Given the description of an element on the screen output the (x, y) to click on. 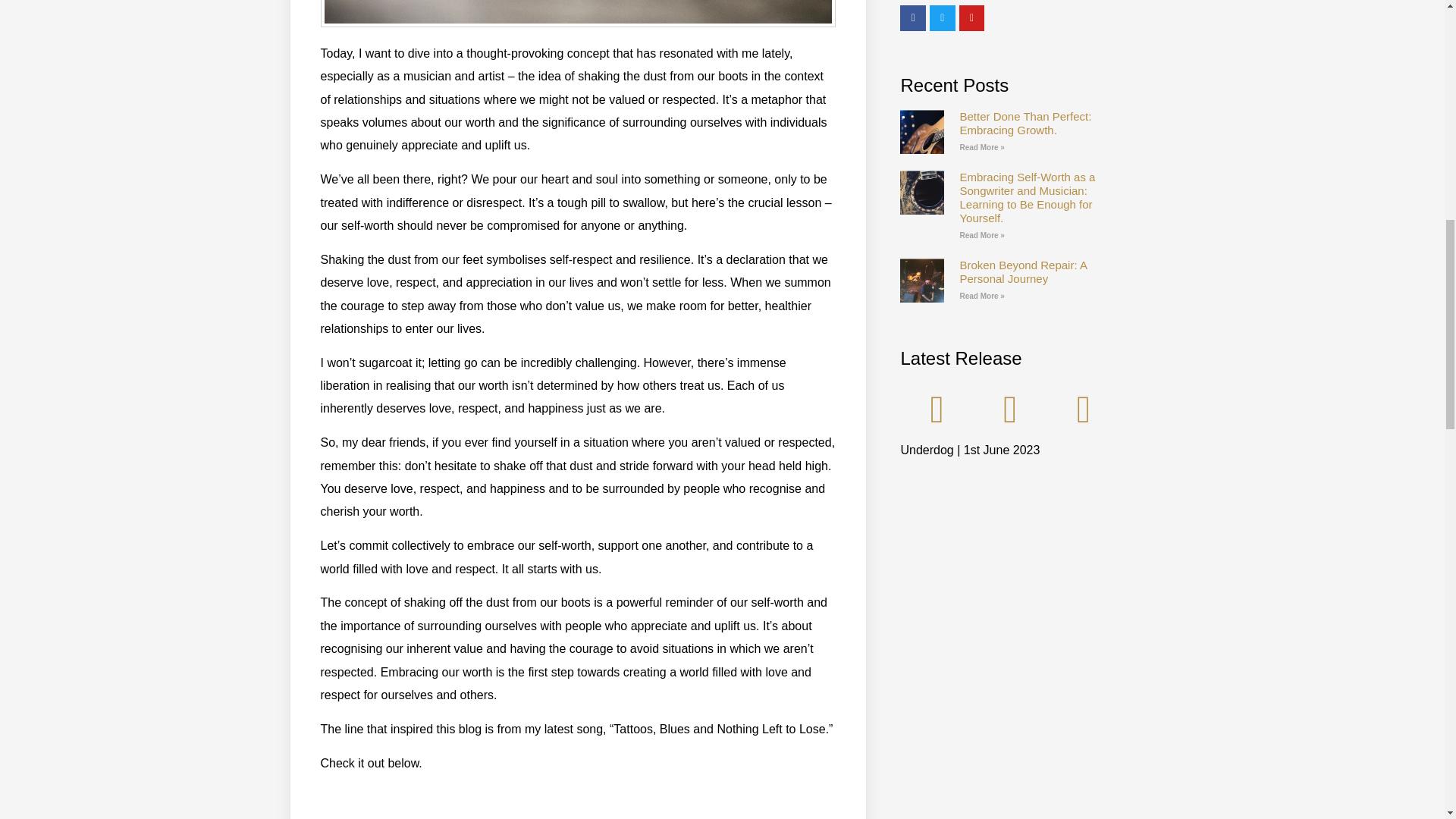
Better Done Than Perfect: Embracing Growth. (1024, 122)
Broken Beyond Repair: A Personal Journey (1022, 271)
Spotify Embed: Tattoos, Blues and Nothing Left to Lose (577, 802)
